Given the description of an element on the screen output the (x, y) to click on. 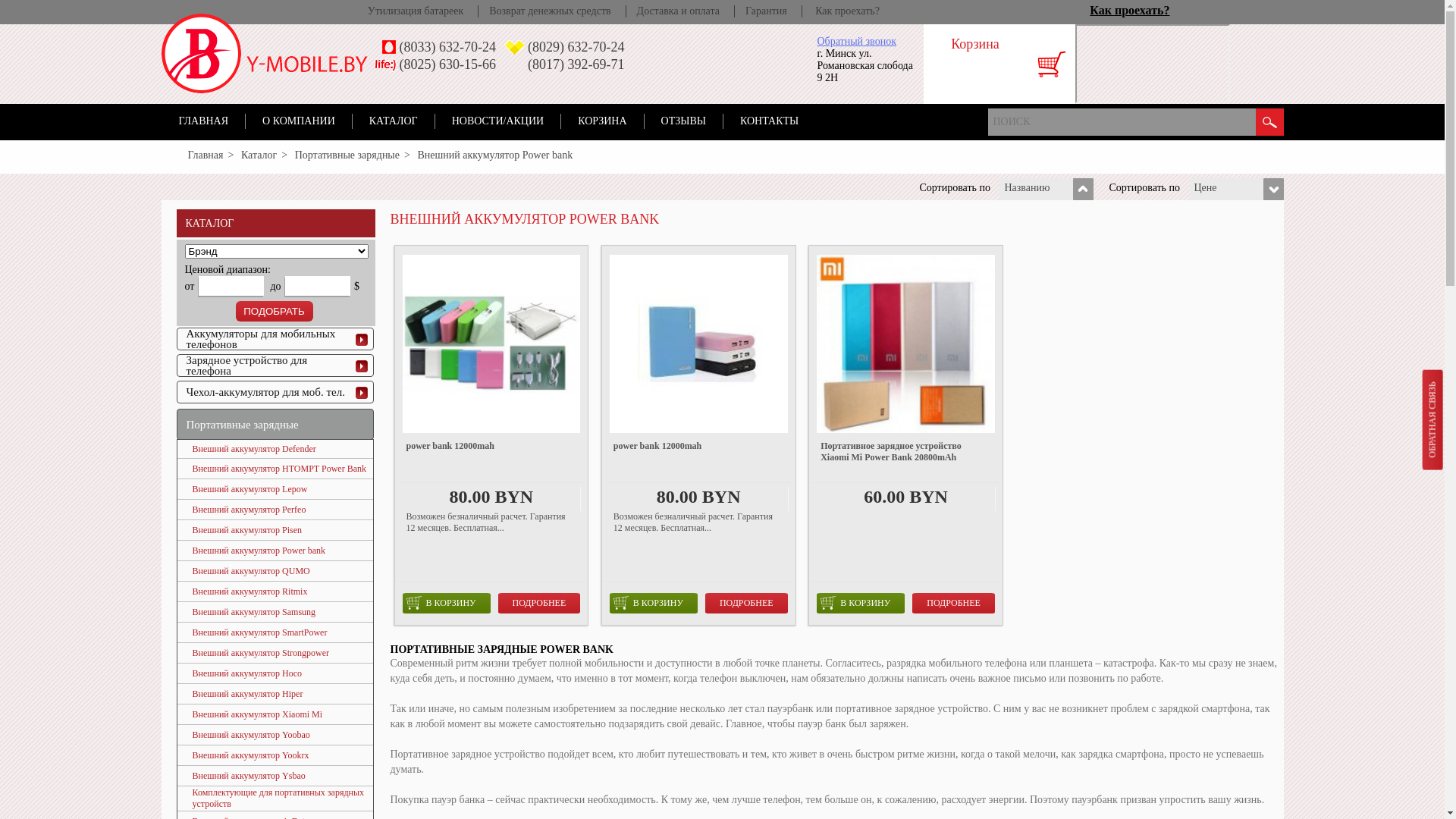
power bank 12000mah Element type: text (698, 461)
power bank 12000mah Element type: text (491, 461)
